Given the description of an element on the screen output the (x, y) to click on. 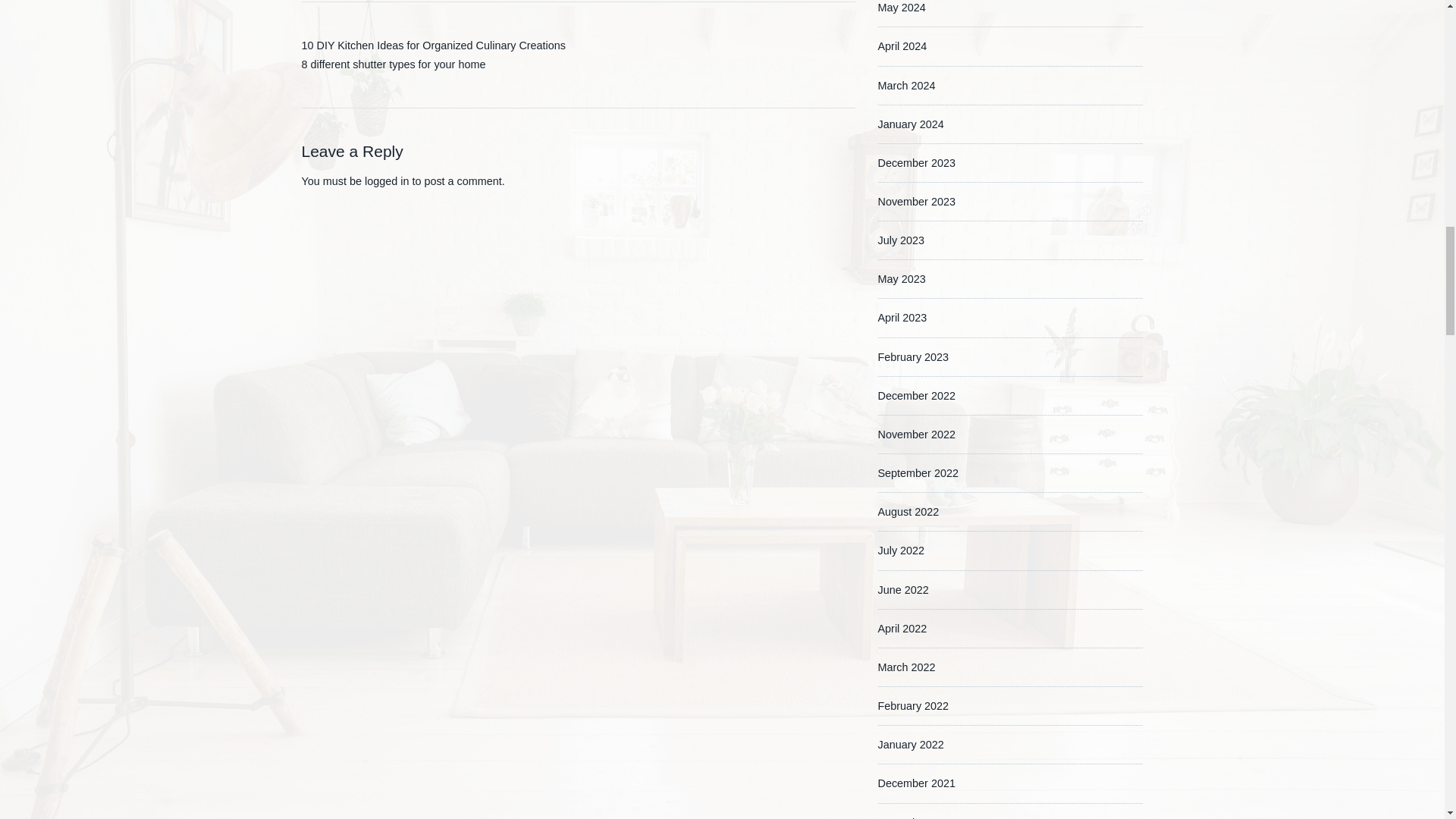
logged in (387, 180)
8 different shutter types for your home (393, 64)
10 DIY Kitchen Ideas for Organized Culinary Creations (433, 45)
